Given the description of an element on the screen output the (x, y) to click on. 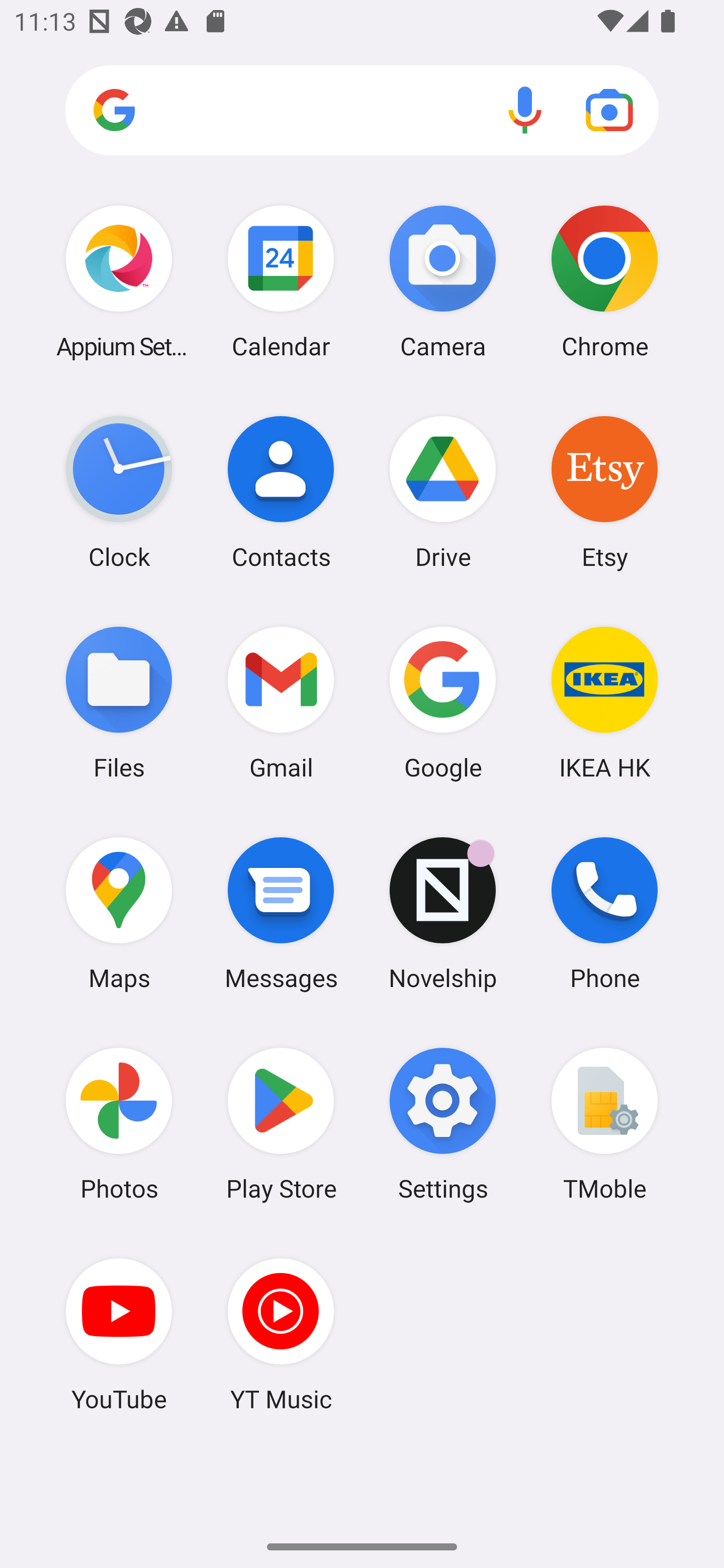
Search apps, web and more (361, 110)
Voice search (524, 109)
Google Lens (608, 109)
Appium Settings (118, 281)
Calendar (280, 281)
Camera (443, 281)
Chrome (604, 281)
Clock (118, 492)
Contacts (280, 492)
Drive (443, 492)
Etsy (604, 492)
Files (118, 702)
Gmail (280, 702)
Google (443, 702)
IKEA HK (604, 702)
Maps (118, 913)
Messages (280, 913)
Novelship Novelship has 2 notifications (443, 913)
Phone (604, 913)
Photos (118, 1124)
Play Store (280, 1124)
Settings (443, 1124)
TMoble (604, 1124)
YouTube (118, 1334)
YT Music (280, 1334)
